Given the description of an element on the screen output the (x, y) to click on. 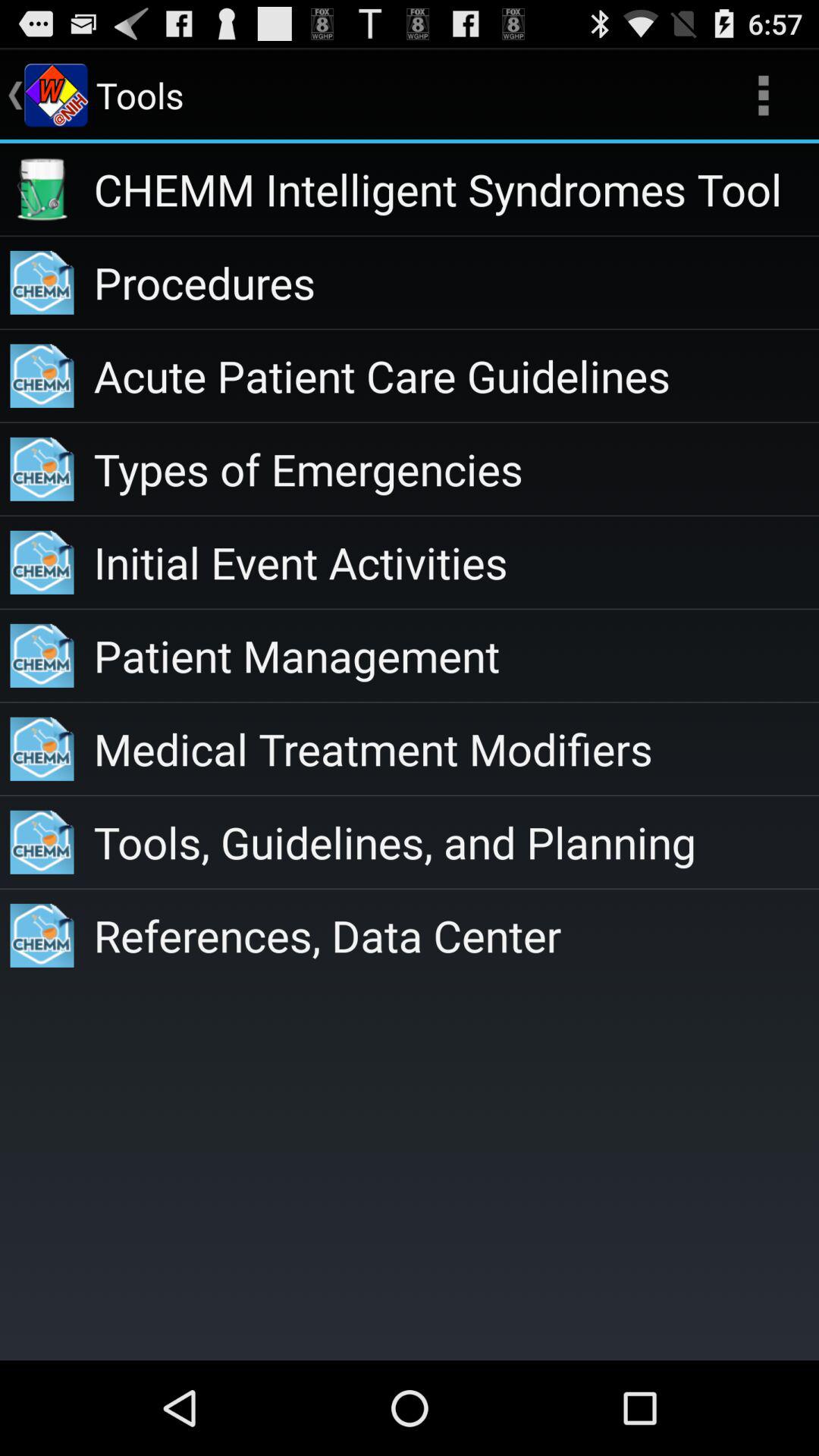
launch the item below the acute patient care app (456, 469)
